Given the description of an element on the screen output the (x, y) to click on. 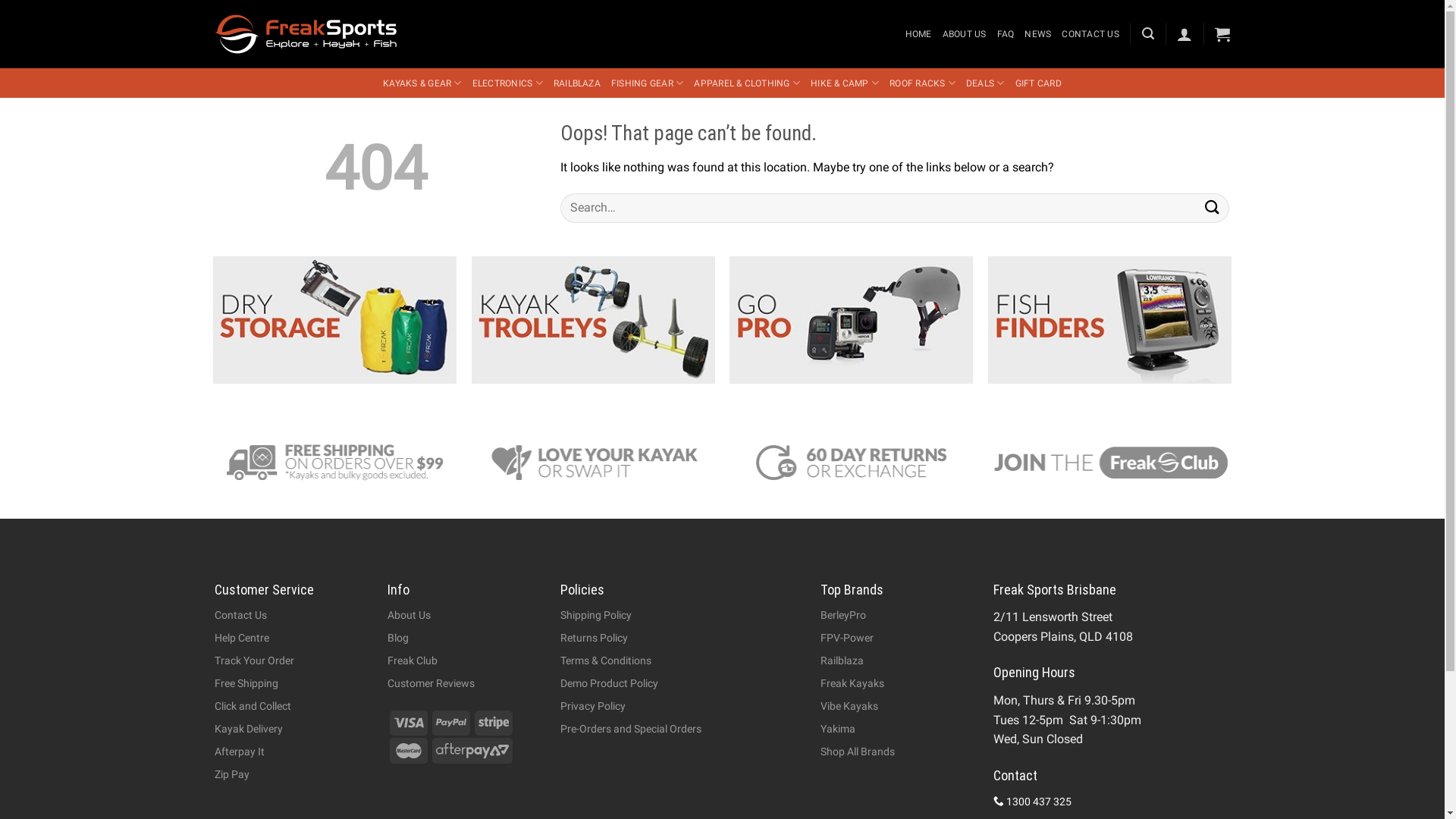
Railblaza Element type: text (841, 660)
1300 437 325 Element type: text (1032, 801)
Demo Product Policy Element type: text (609, 683)
Freak Kayaks Element type: text (852, 683)
Yakima Element type: text (837, 728)
Kayak Delivery Element type: text (247, 728)
Shop All Brands Element type: text (857, 751)
Vibe Kayaks Element type: text (849, 705)
ABOUT US Element type: text (964, 33)
Customer Reviews Element type: text (430, 683)
RAILBLAZA Element type: text (576, 83)
Help Centre Element type: text (240, 637)
Contact Us Element type: text (239, 614)
Pre-Orders and Special Orders Element type: text (630, 728)
Cart Element type: hover (1222, 33)
HOME Element type: text (918, 33)
Search Element type: text (1211, 207)
Zip Pay Element type: text (230, 774)
Returns Policy Element type: text (593, 637)
DEALS Element type: text (985, 82)
Blog Element type: text (397, 637)
GIFT CARD Element type: text (1038, 83)
Afterpay It Element type: text (238, 751)
FPV-Power Element type: text (846, 637)
Terms & Conditions Element type: text (605, 660)
HIKE & CAMP Element type: text (844, 82)
About Us Element type: text (408, 614)
Track Your Order Element type: text (253, 660)
FISHING GEAR Element type: text (647, 82)
Click and Collect Element type: text (251, 705)
Privacy Policy Element type: text (592, 705)
APPAREL & CLOTHING Element type: text (746, 82)
ROOF RACKS Element type: text (922, 82)
Skip to content Element type: text (0, 0)
Freak Sports Australia Element type: hover (304, 33)
KAYAKS & GEAR Element type: text (421, 82)
Freak Club Element type: text (412, 660)
Free Shipping Element type: text (245, 683)
CONTACT US Element type: text (1089, 33)
Shipping Policy Element type: text (595, 614)
ELECTRONICS Element type: text (507, 82)
NEWS Element type: text (1037, 33)
FAQ Element type: text (1005, 33)
BerleyPro Element type: text (843, 614)
